Given the description of an element on the screen output the (x, y) to click on. 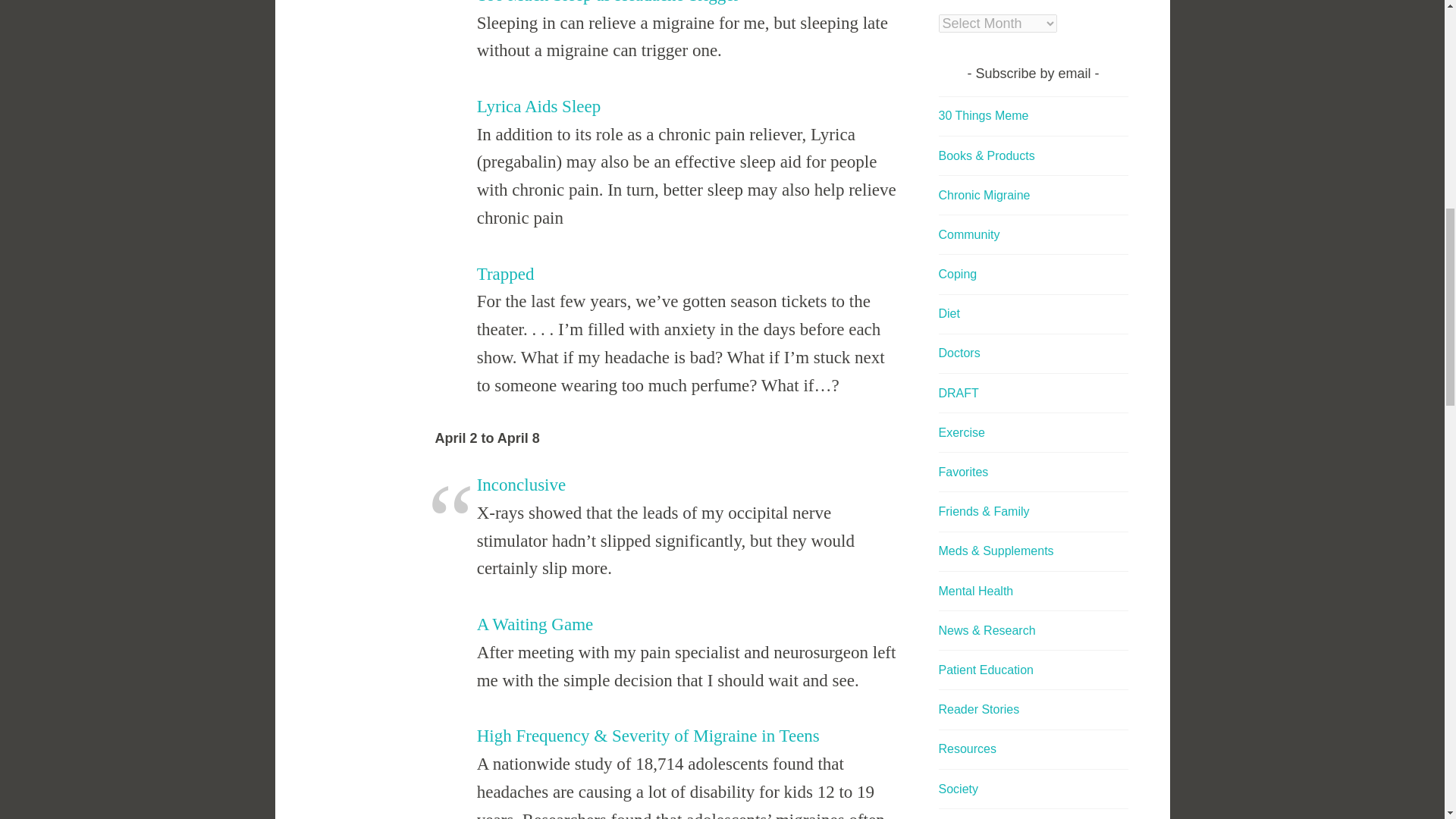
Trapped (505, 273)
Too Much Sleep as Headache Trigger (608, 2)
A Waiting Game (535, 624)
Lyrica Aids Sleep (539, 106)
30 Things Meme (984, 115)
Inconclusive (521, 484)
